Given the description of an element on the screen output the (x, y) to click on. 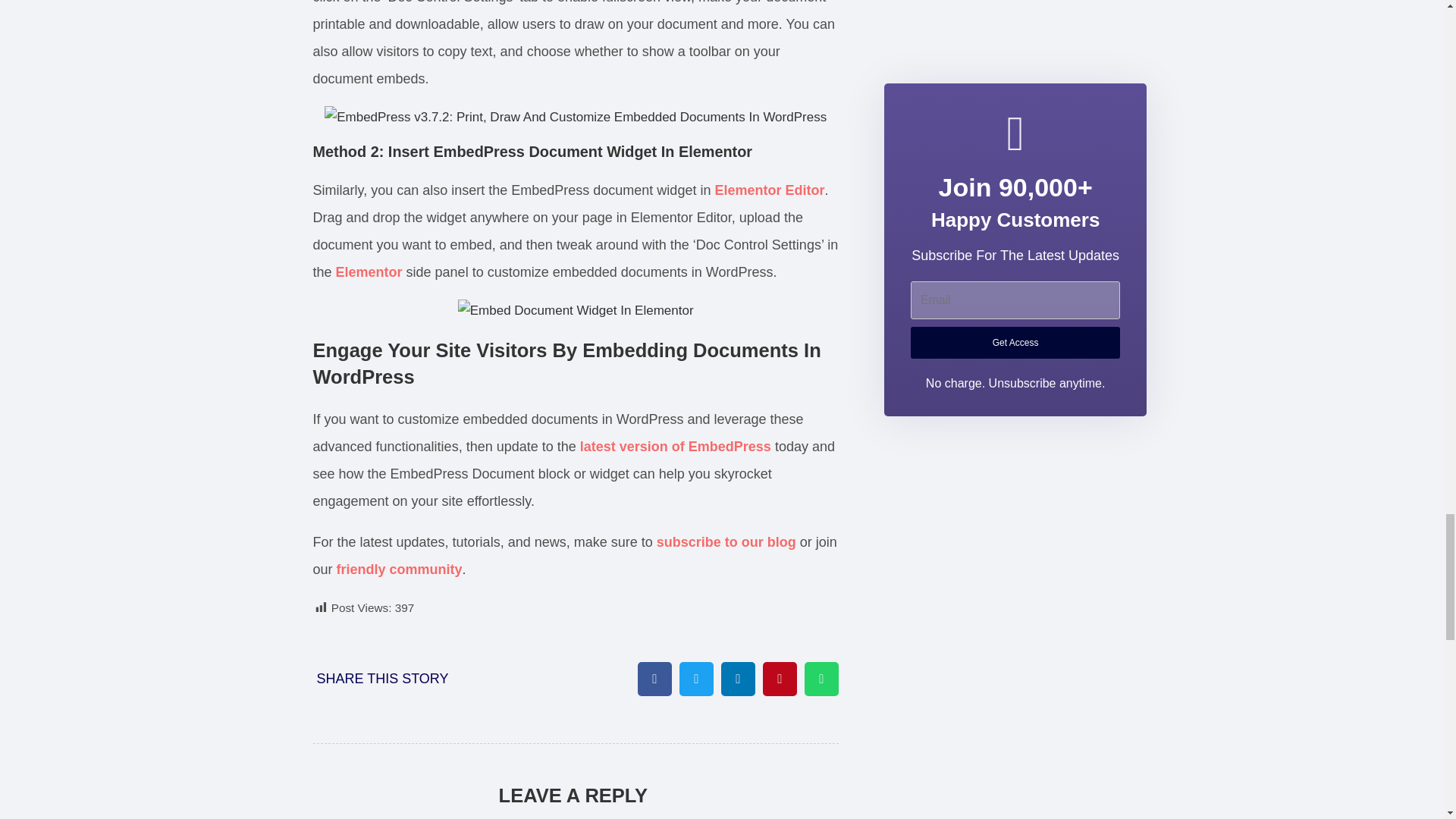
Elementor (369, 272)
friendly community (399, 569)
latest version of EmbedPress (675, 446)
subscribe to our blog (726, 541)
Elementor Editor (769, 190)
